Given the description of an element on the screen output the (x, y) to click on. 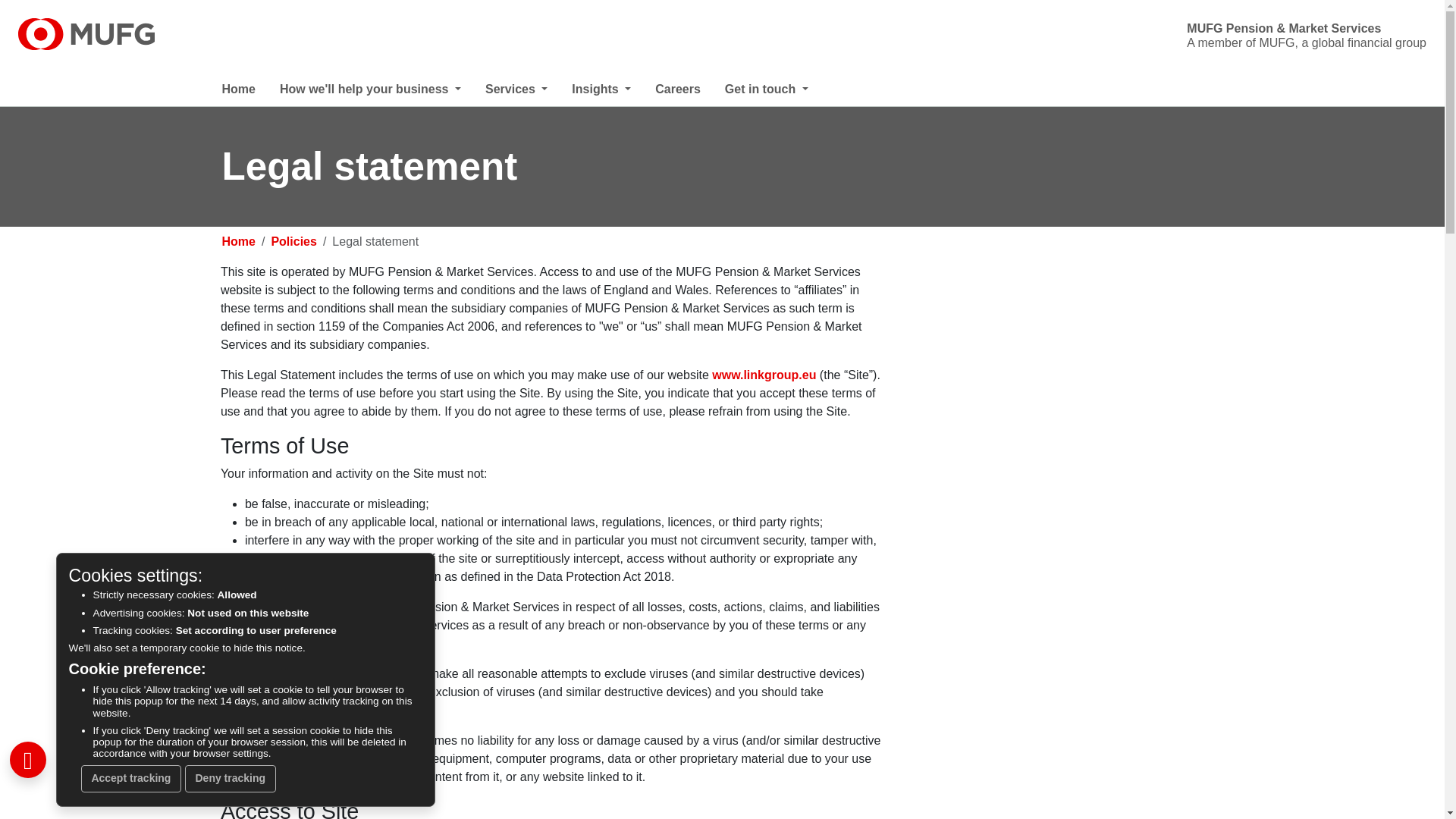
Deny tracking (230, 778)
Insights (613, 86)
Home (250, 86)
Accept tracking (131, 778)
Home (763, 374)
Services (528, 86)
How we'll help your business (381, 86)
